Given the description of an element on the screen output the (x, y) to click on. 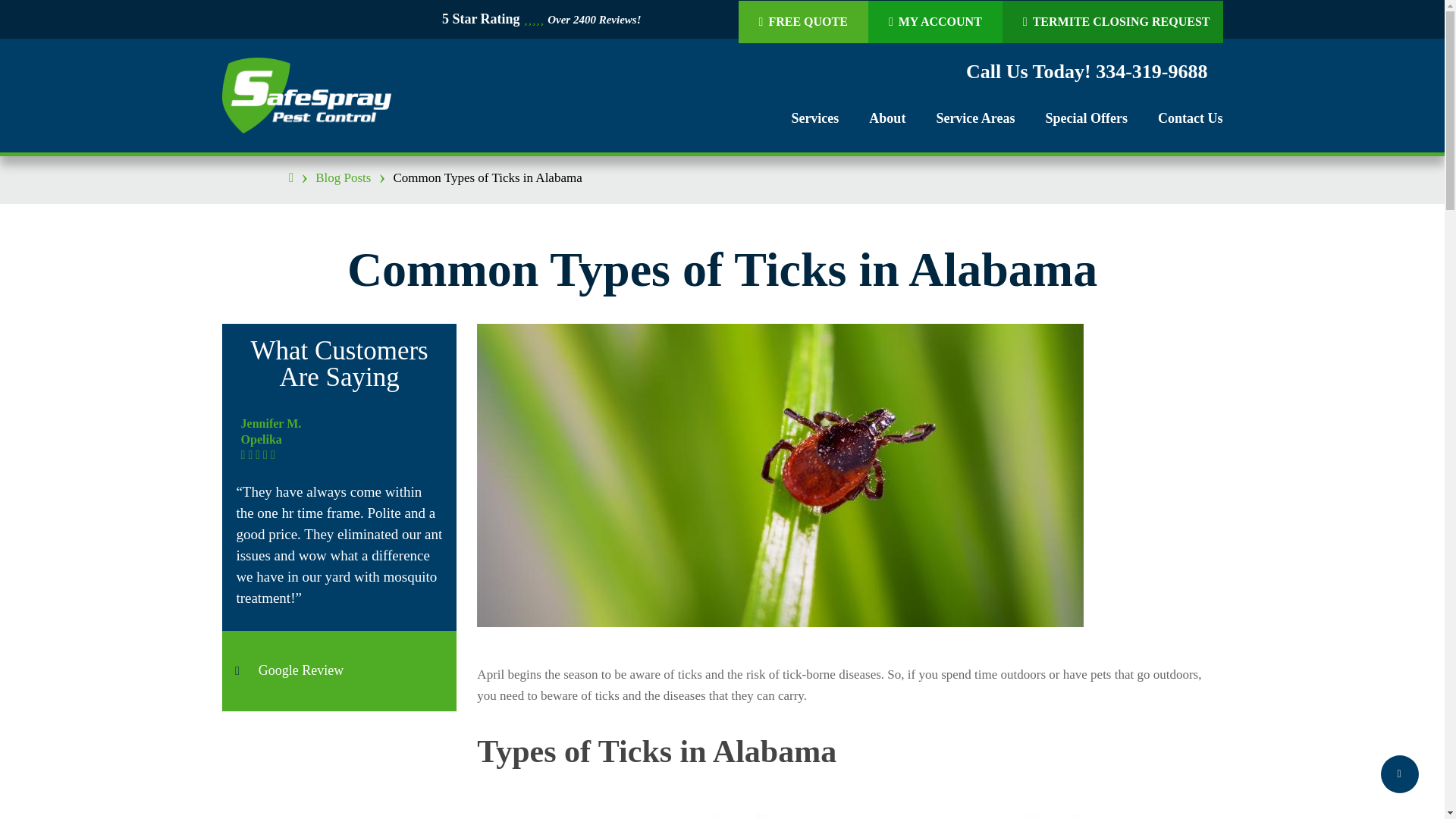
Special Offers (1085, 118)
Service Areas (975, 118)
Call Us Today! 334-319-9688 (1087, 72)
Contact Us (1190, 118)
About (887, 118)
TERMITE CLOSING REQUEST (1116, 21)
Blog Posts (343, 177)
Blog Posts (343, 177)
FREE QUOTE (802, 21)
MY ACCOUNT (934, 21)
Services (814, 118)
